Given the description of an element on the screen output the (x, y) to click on. 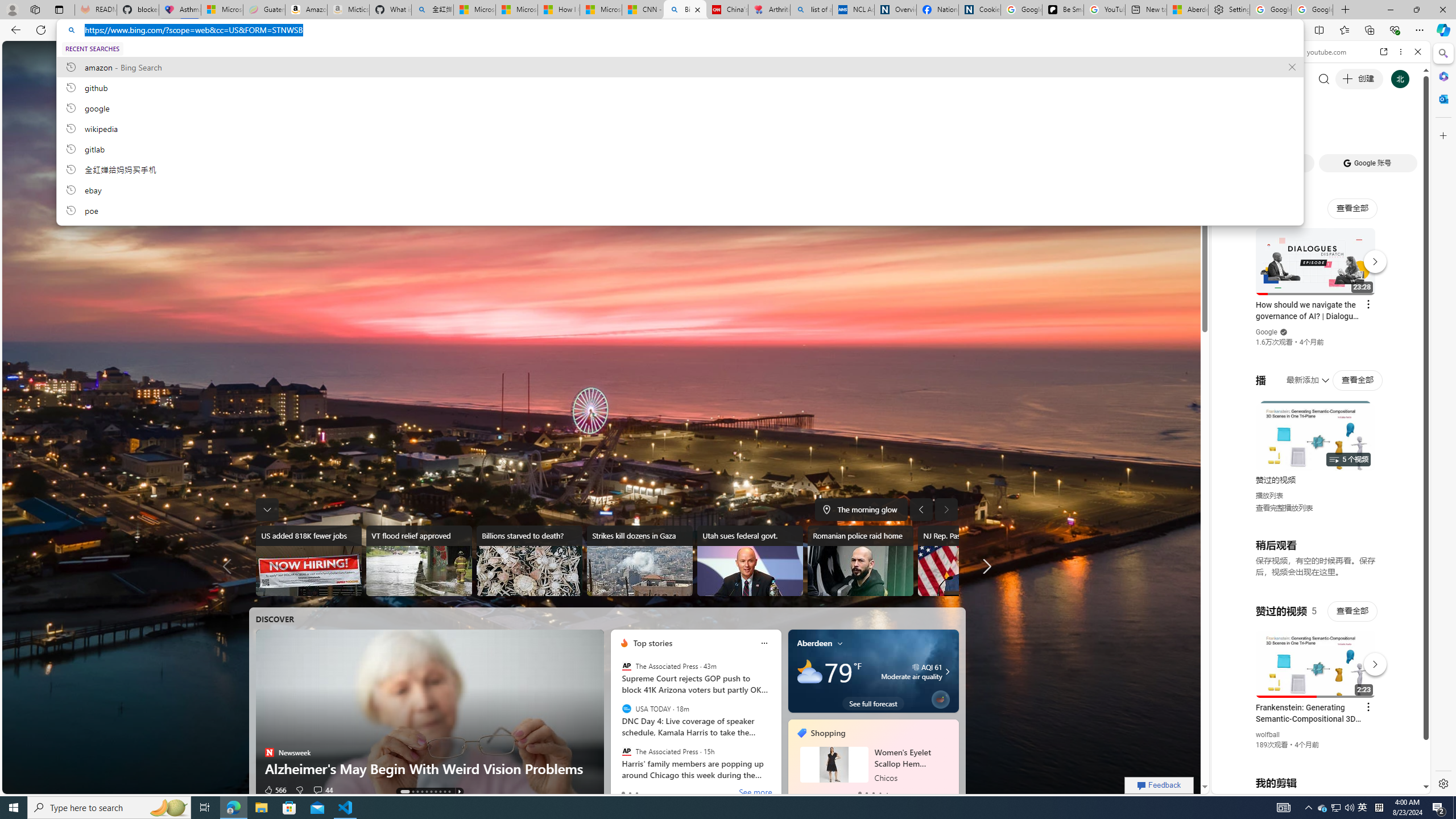
Search using voice (781, 205)
Microsoft Start (600, 9)
Global web icon (1232, 655)
AutomationID: tab-2 (416, 791)
See more (754, 793)
AutomationID: tab-9 (448, 791)
Show More Music (1390, 310)
Close Outlook pane (1442, 98)
Grow a virtual seed into a real tree (939, 697)
Billions starved to death? (529, 560)
